Given the description of an element on the screen output the (x, y) to click on. 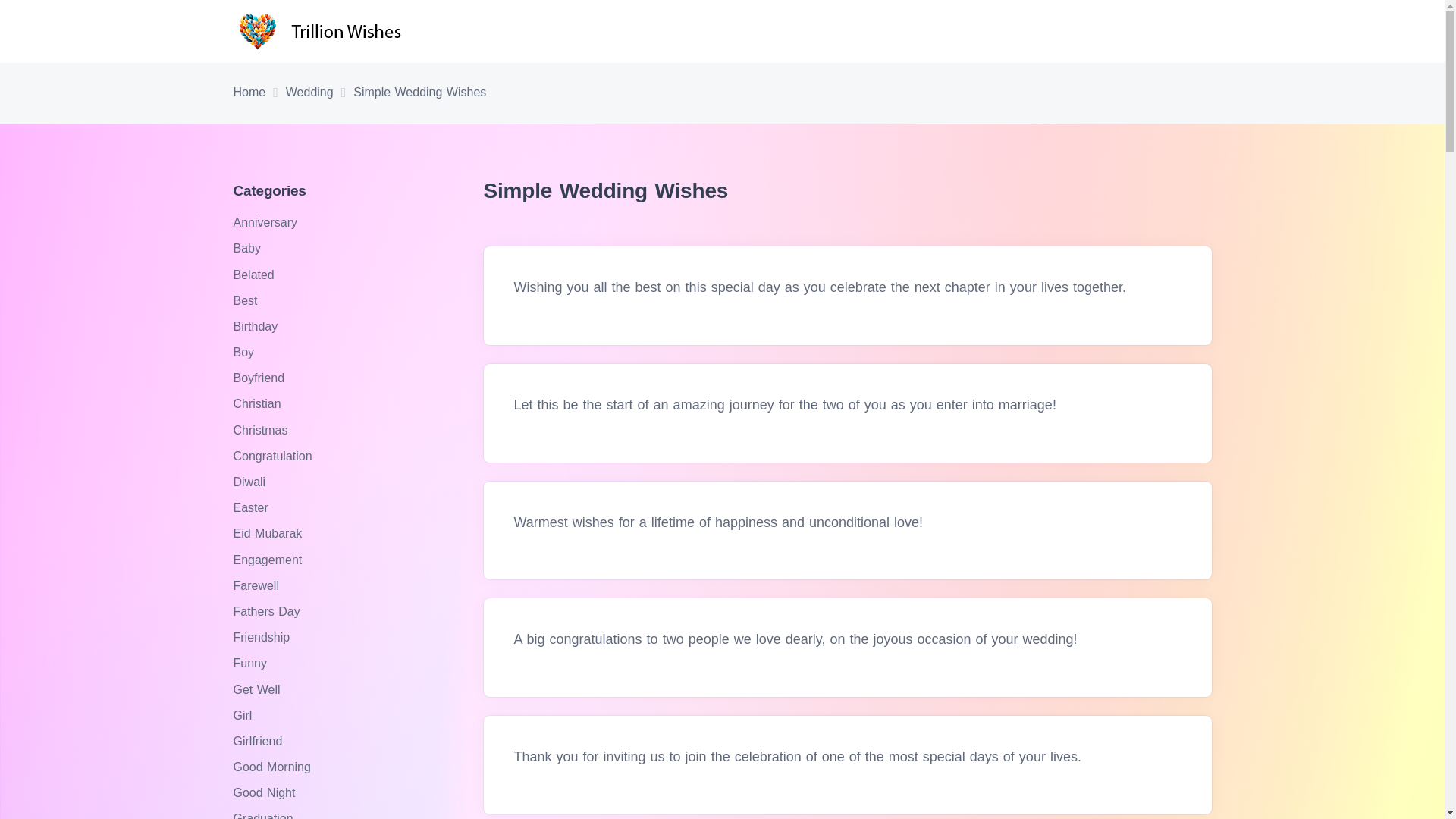
Good Night (265, 792)
Friendship (263, 636)
Easter (252, 507)
Funny (251, 662)
Diwali (250, 481)
Birthday (257, 326)
Girlfriend (259, 740)
Girl (244, 715)
Best (247, 300)
Fathers Day (268, 611)
Graduation (264, 815)
Christmas (262, 430)
Home (249, 92)
Anniversary (266, 222)
Boy (245, 351)
